Given the description of an element on the screen output the (x, y) to click on. 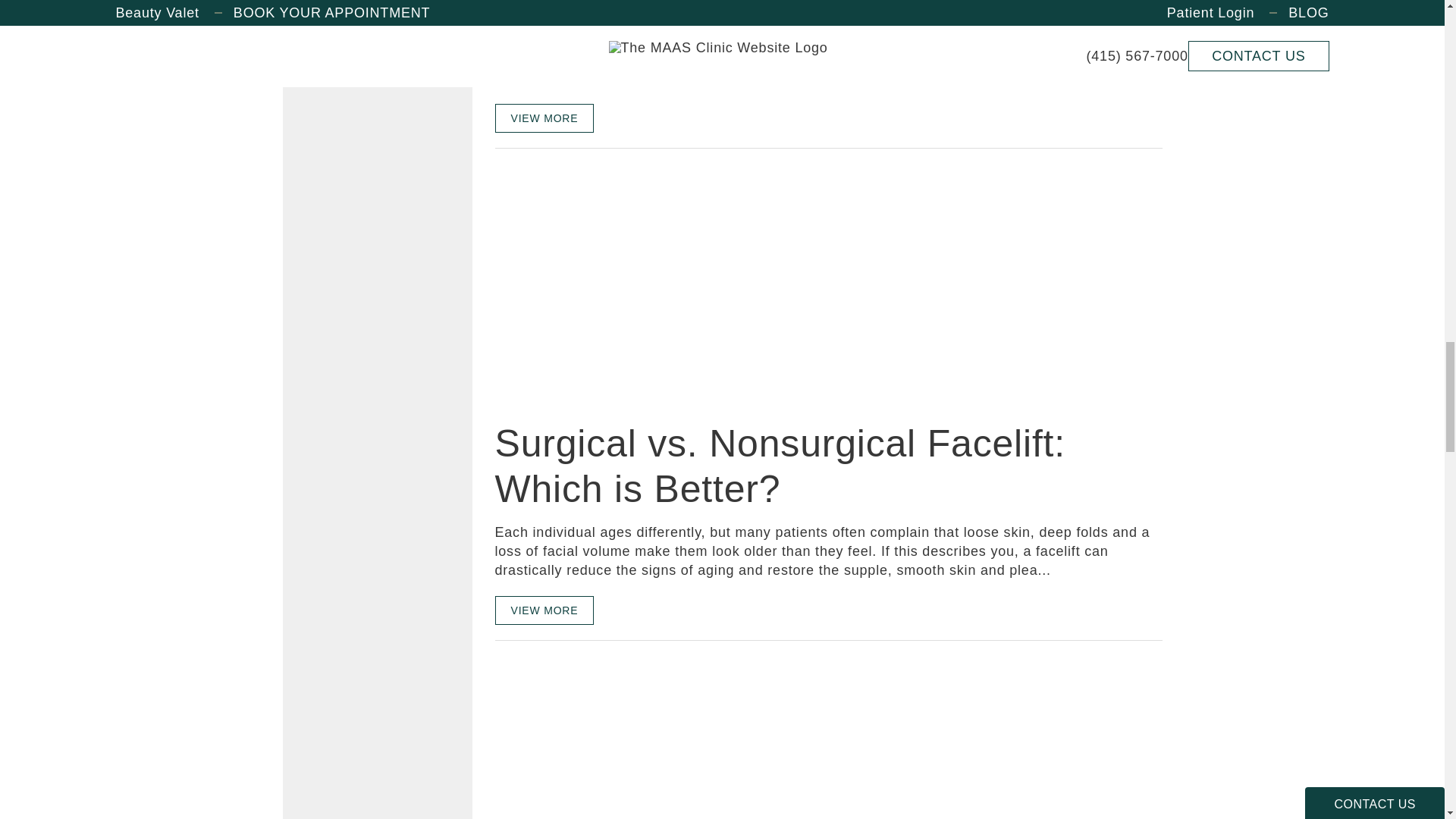
View full blog article (544, 118)
